Given the description of an element on the screen output the (x, y) to click on. 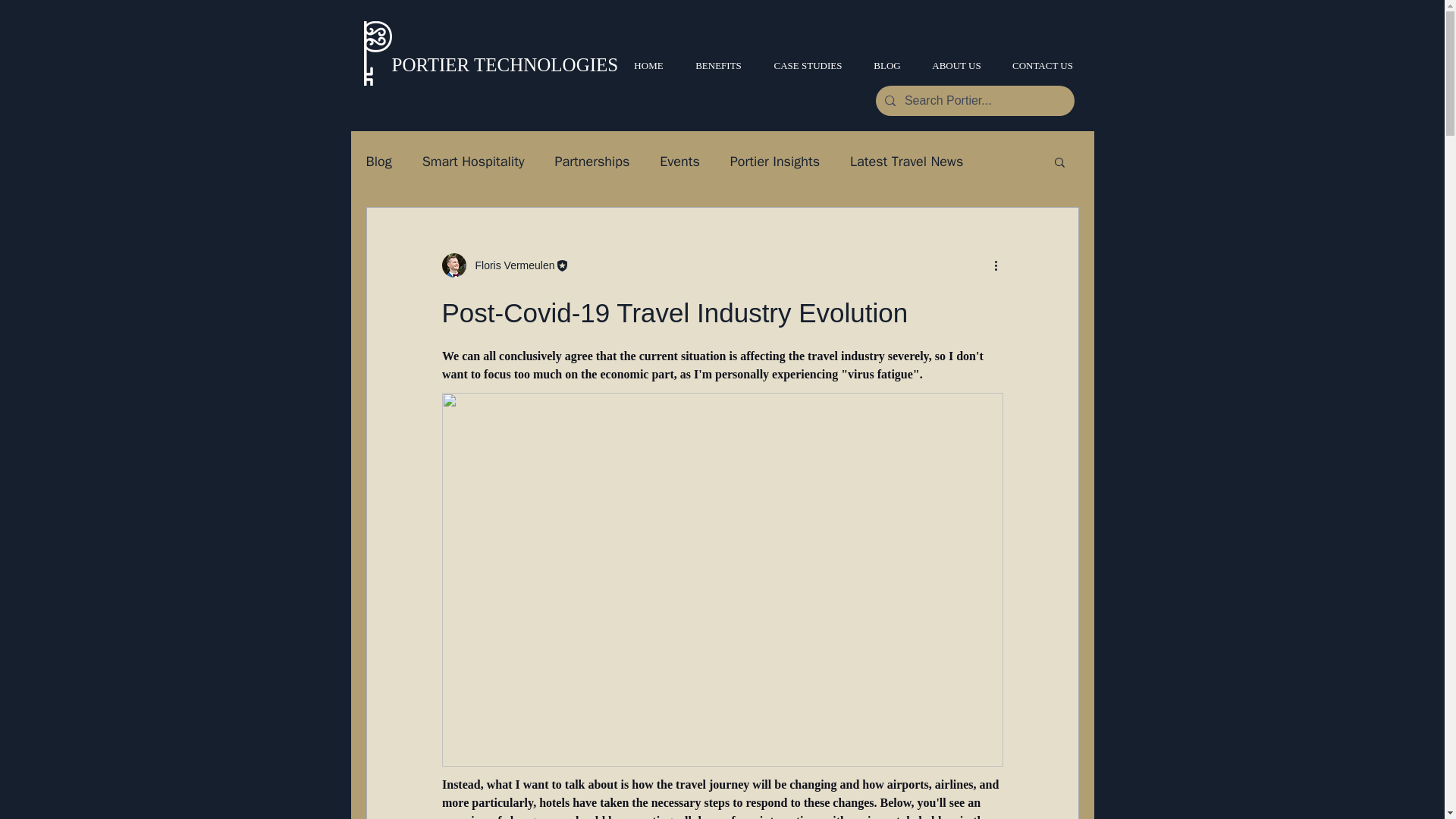
Events (679, 161)
Portier Insights (774, 161)
CONTACT US (1041, 65)
PORTIER TECHNOLOGIES (504, 64)
Smart Hospitality (473, 161)
ABOUT US (955, 65)
CASE STUDIES (808, 65)
Floris Vermeulen (509, 265)
HOME (648, 65)
Partnerships (591, 161)
Blog (378, 161)
BLOG (888, 65)
Latest Travel News (906, 161)
BENEFITS (718, 65)
